Given the description of an element on the screen output the (x, y) to click on. 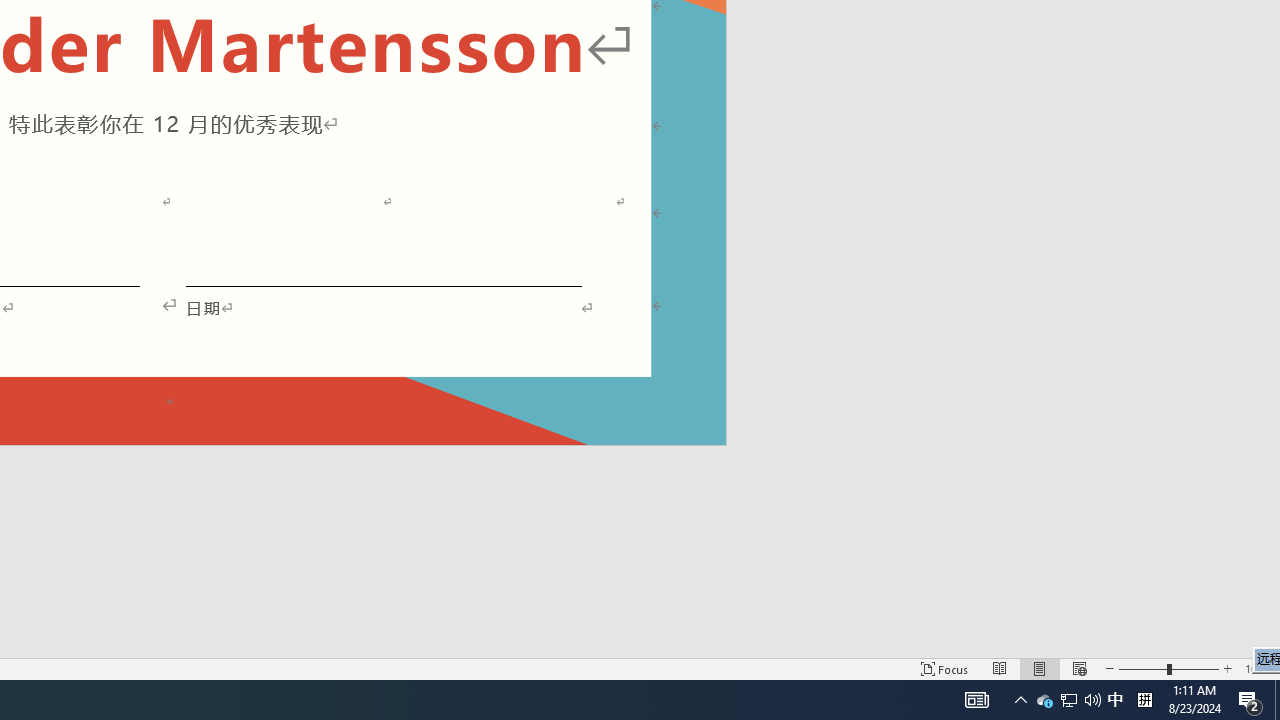
Focus  (944, 668)
Read Mode (1000, 668)
Zoom In (1227, 668)
Zoom 100% (1258, 668)
Print Layout (1039, 668)
Zoom Out (1142, 668)
Web Layout (1079, 668)
Zoom (1168, 668)
